Given the description of an element on the screen output the (x, y) to click on. 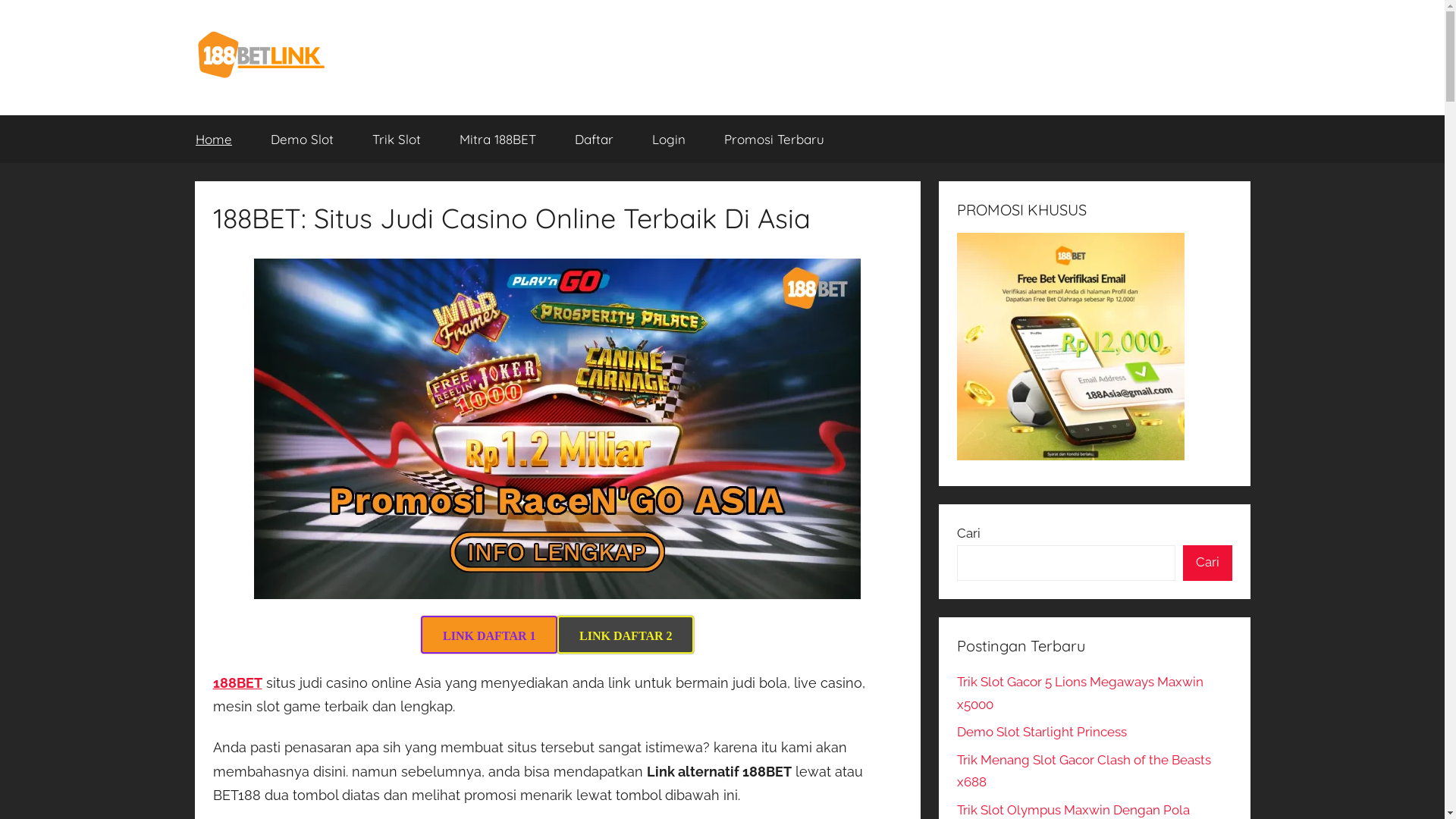
Promosi Terbaru Element type: text (774, 139)
Demo Slot Element type: text (302, 139)
Trik Slot Gacor 5 Lions Megaways Maxwin x5000 Element type: text (1080, 693)
Daftar Element type: text (593, 139)
Trik Menang Slot Gacor Clash of the Beasts x688 Element type: text (1084, 771)
Login Element type: text (668, 139)
Mitra 188BET Element type: text (497, 139)
LINK DAFTAR 2 Element type: text (625, 634)
LINK DAFTAR 1 Element type: text (488, 634)
188BET Element type: text (236, 682)
Home Element type: text (213, 139)
Cari Element type: text (1207, 562)
Demo Slot Starlight Princess Element type: text (1041, 731)
Trik Slot Element type: text (396, 139)
